Given the description of an element on the screen output the (x, y) to click on. 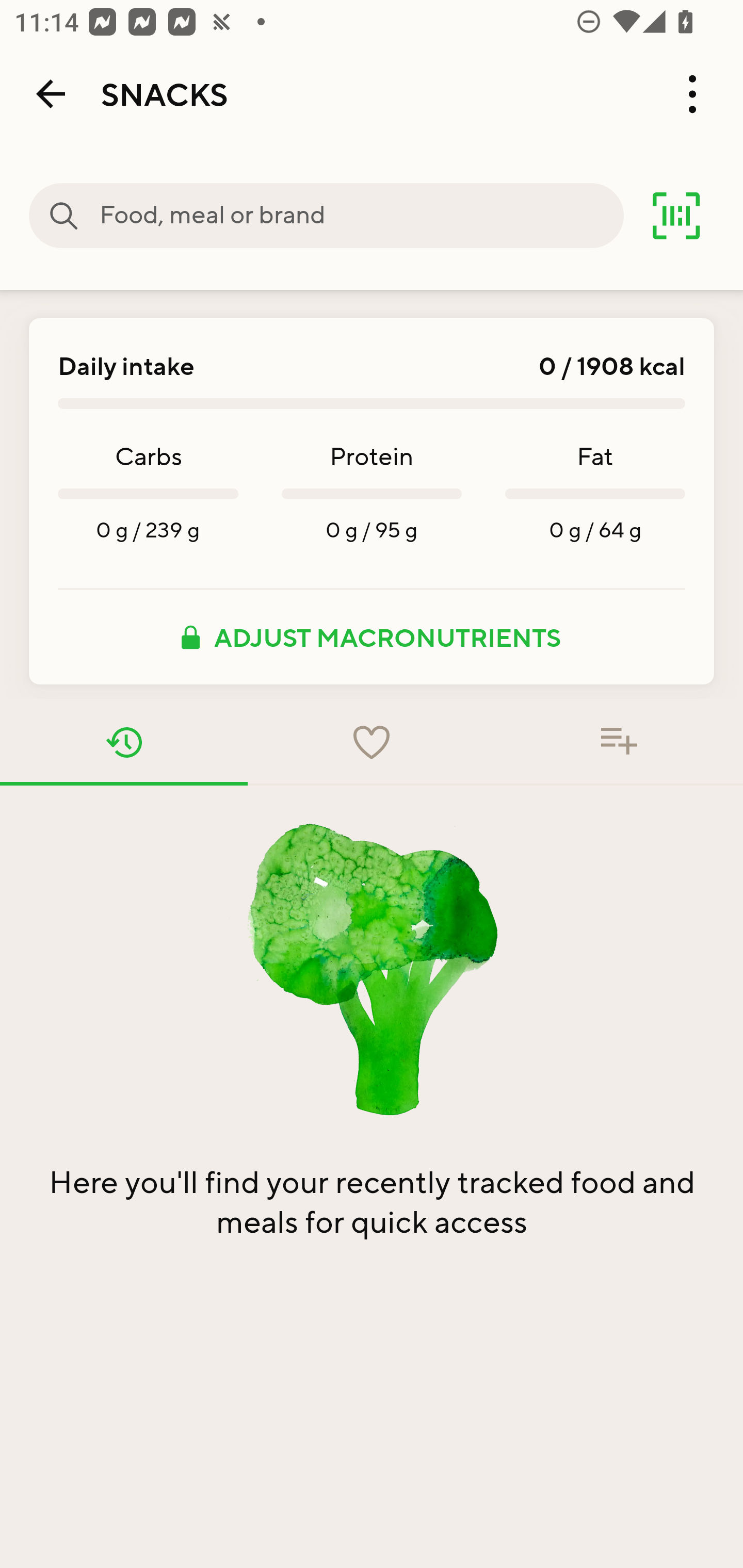
Back (50, 93)
Food, meal or brand (63, 215)
Food, meal or brand (361, 215)
ADJUST MACRONUTRIENTS (371, 637)
Favorites (371, 742)
Food added (619, 742)
